Given the description of an element on the screen output the (x, y) to click on. 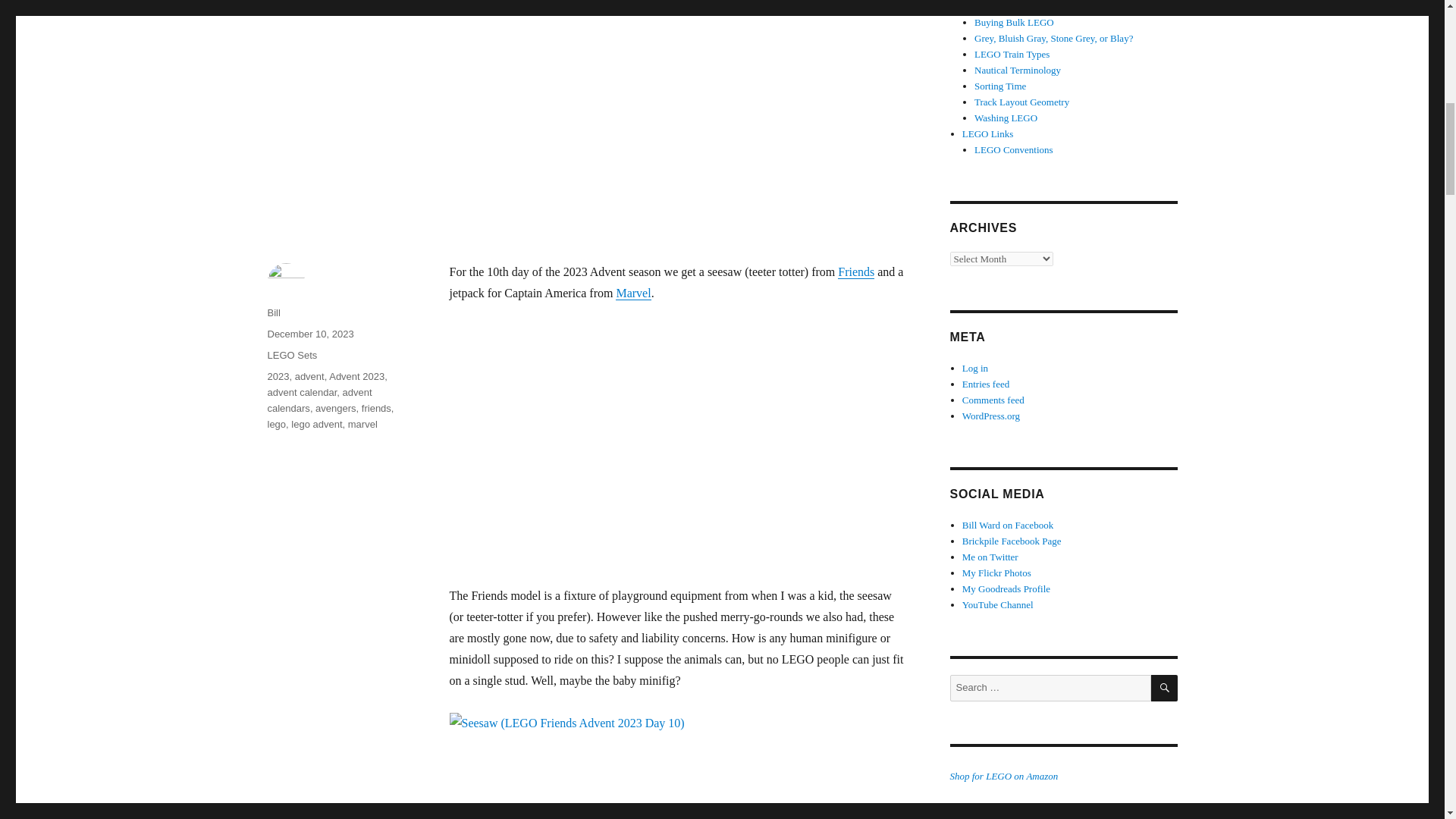
Marvel (632, 292)
My photostream on flickr.com (996, 572)
lego (275, 423)
YouTube video player (660, 444)
December 10, 2023 (309, 333)
marvel (362, 423)
avengers (335, 408)
advent (309, 376)
Friends (856, 271)
Advent 2023 (356, 376)
